Given the description of an element on the screen output the (x, y) to click on. 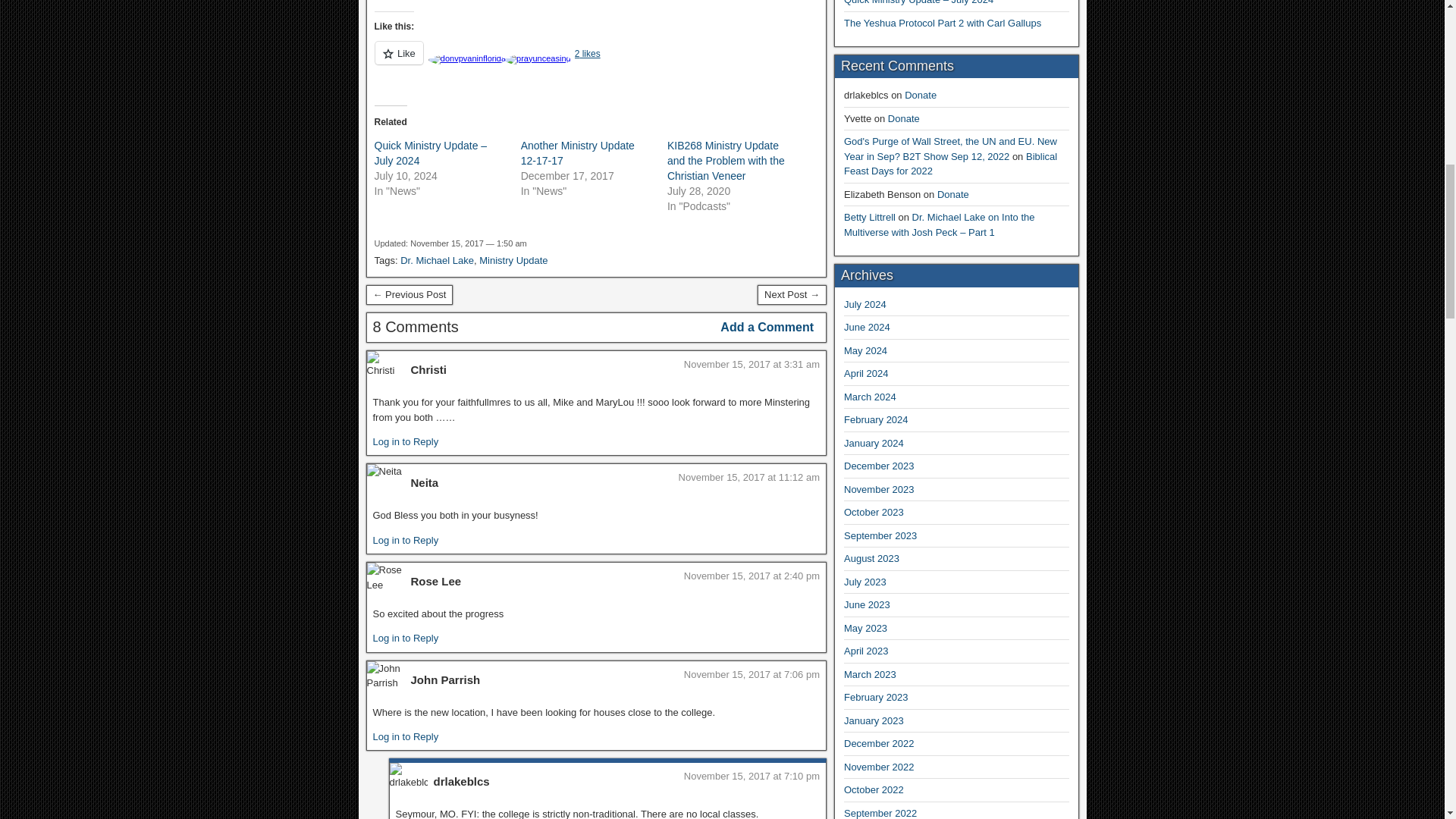
Like or Reblog (596, 61)
Another Ministry Update 12-17-17 (577, 153)
